Given the description of an element on the screen output the (x, y) to click on. 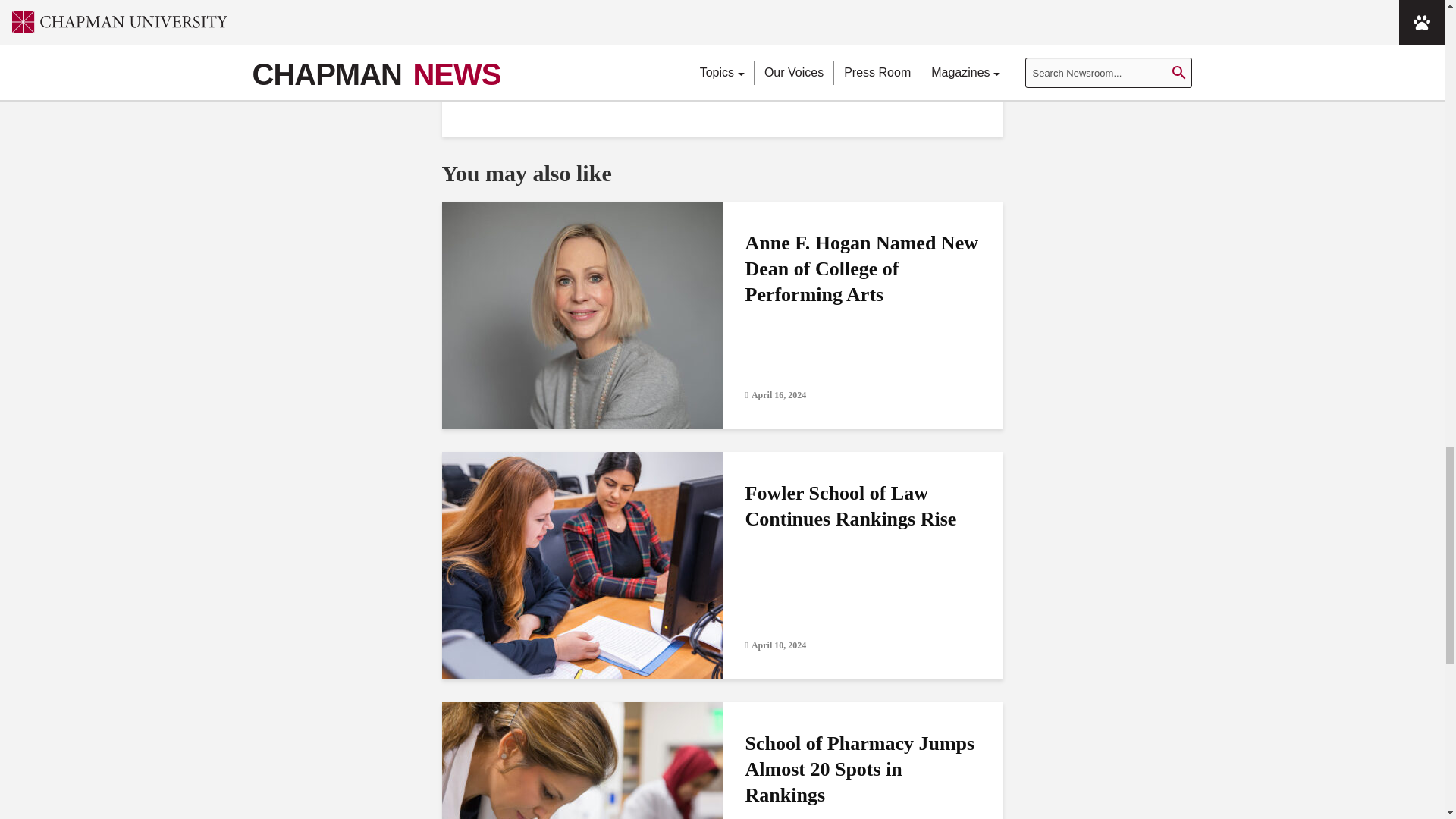
Fowler School of Law Continues Rankings Rise (581, 563)
School of Pharmacy Jumps Almost 20 Spots in Rankings (581, 813)
Anne F. Hogan Named New Dean of College of Performing Arts (581, 314)
